Given the description of an element on the screen output the (x, y) to click on. 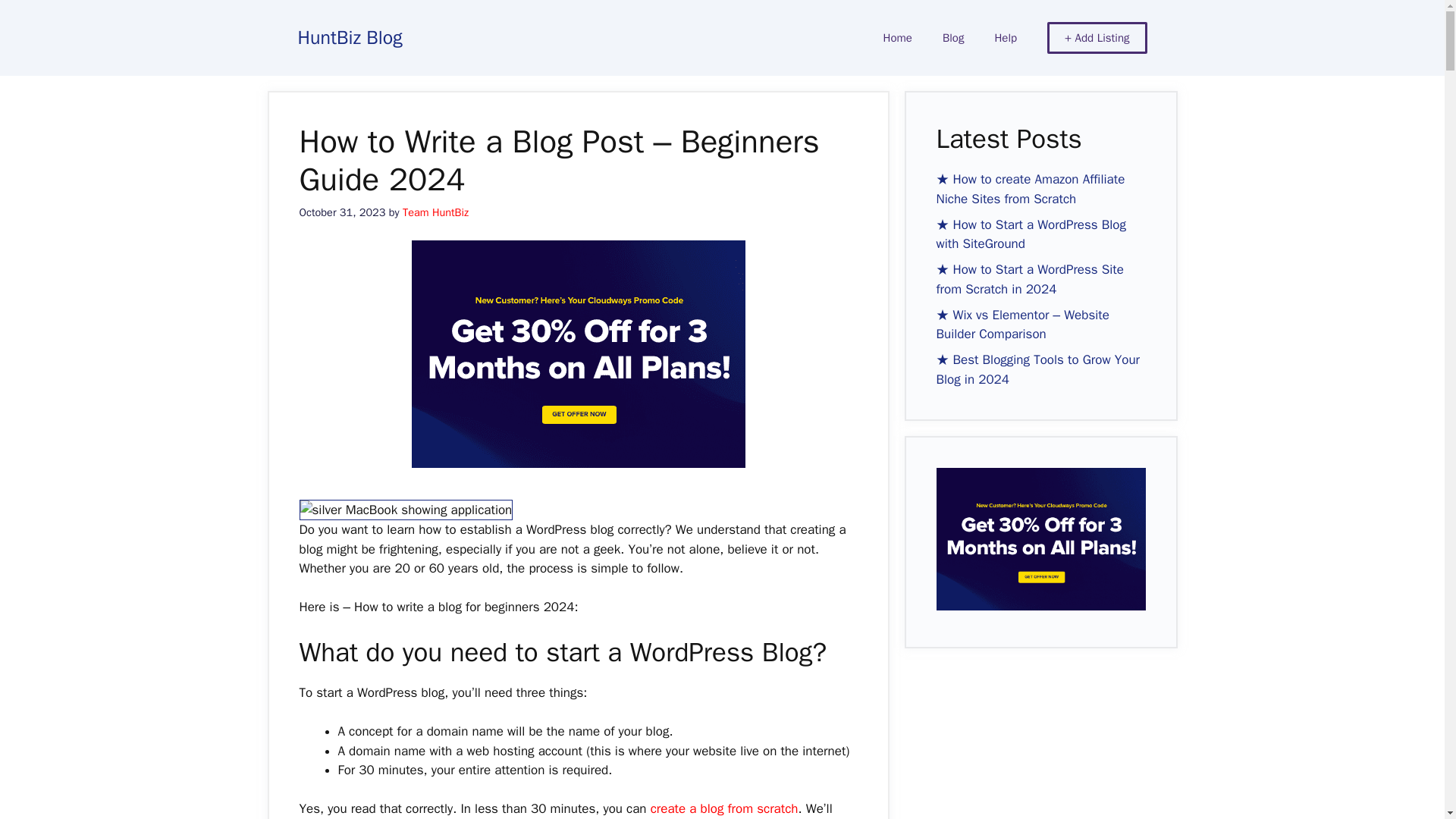
create a blog from scratch (723, 808)
How to Start a WordPress Blog with SiteGround (1030, 234)
How to Start a WordPress Site from Scratch in 2024 (1029, 279)
Best Blogging Tools to Grow Your Blog in 2024 (1038, 369)
HuntBiz Blog (349, 37)
Home (897, 37)
Help (1005, 37)
View all posts by Team HuntBiz (435, 212)
Team HuntBiz (435, 212)
Blog (952, 37)
How to create Amazon Affiliate Niche Sites from Scratch (1030, 189)
